Given the description of an element on the screen output the (x, y) to click on. 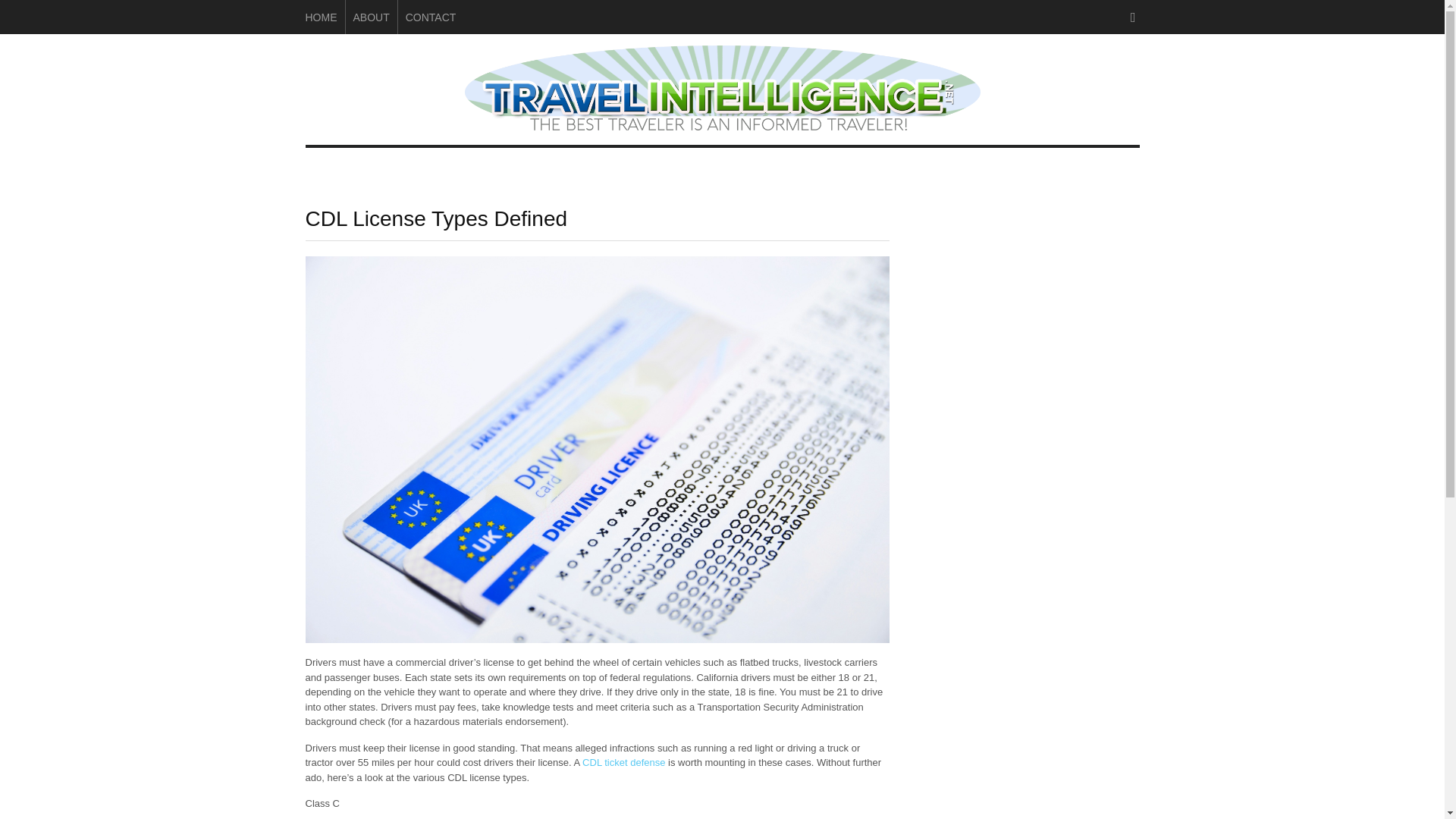
ABOUT (371, 17)
CONTACT (431, 17)
HOME (320, 17)
Travel Intelligence (721, 123)
